Given the description of an element on the screen output the (x, y) to click on. 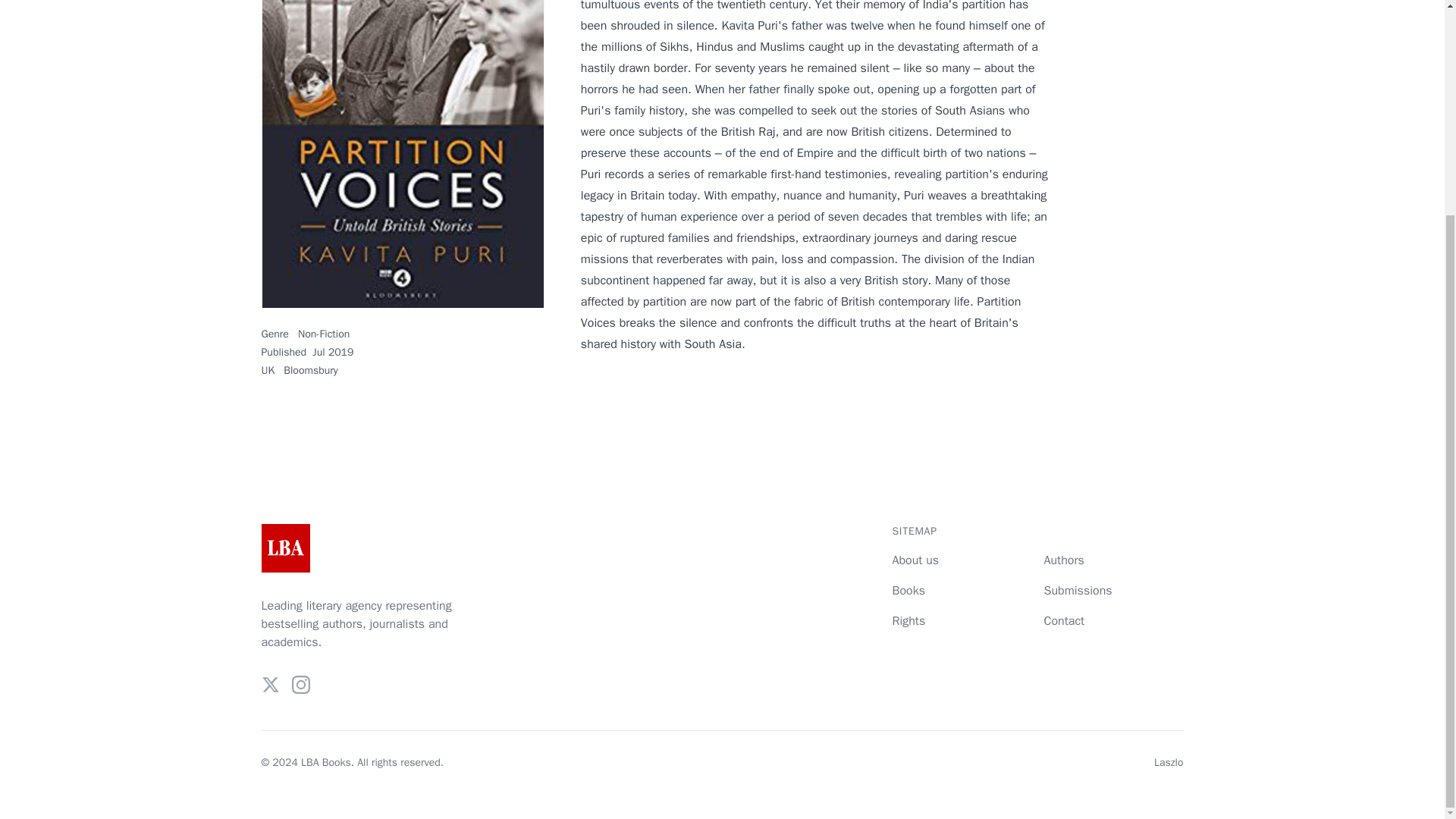
Submissions (1077, 590)
Twitter (269, 684)
About us (915, 560)
Laszlo (1168, 762)
Books (907, 590)
Contact (1063, 620)
Authors (1063, 560)
Rights (907, 620)
Instagram (299, 684)
